Given the description of an element on the screen output the (x, y) to click on. 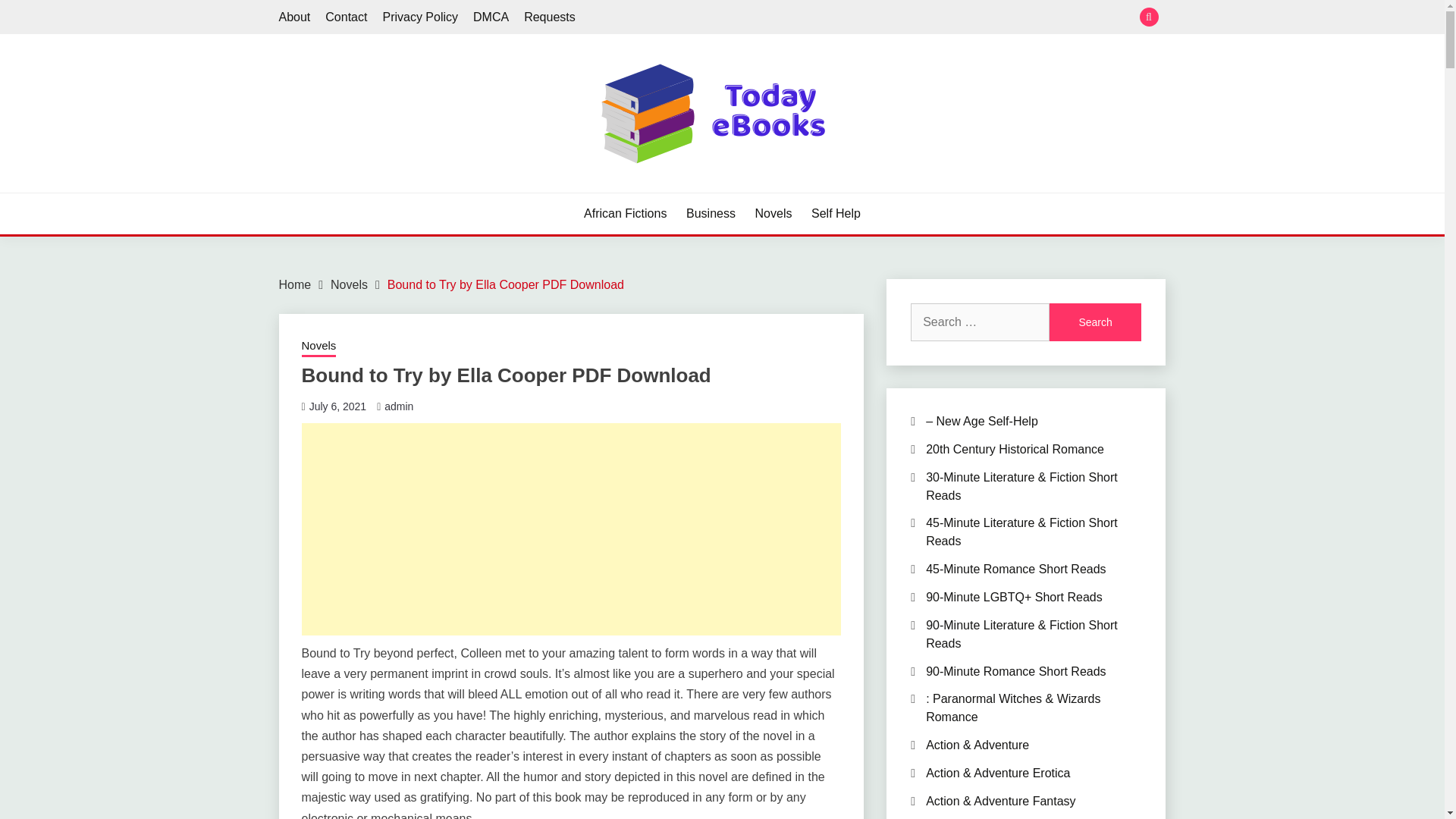
African Fictions (624, 213)
Search (832, 18)
Privacy Policy (419, 16)
Search (1095, 322)
Home (295, 284)
admin (398, 406)
TODAYEBOOKS (387, 190)
Novels (349, 284)
Requests (549, 16)
Novels (318, 347)
